Given the description of an element on the screen output the (x, y) to click on. 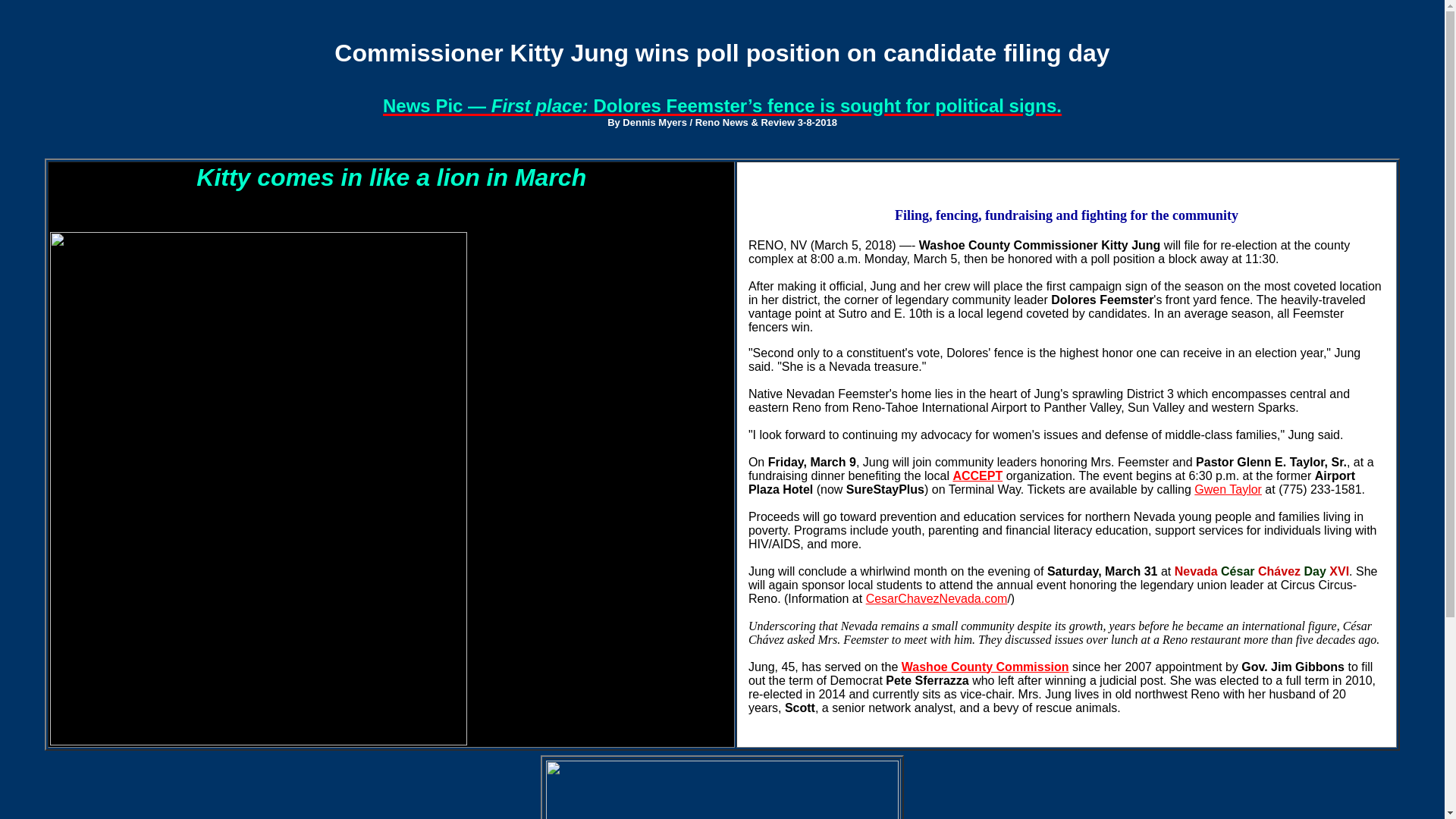
CesarChavezNevada.com (936, 597)
Gwen Taylor (1227, 488)
ACCEPT (977, 474)
Washoe County Commission (984, 666)
